Given the description of an element on the screen output the (x, y) to click on. 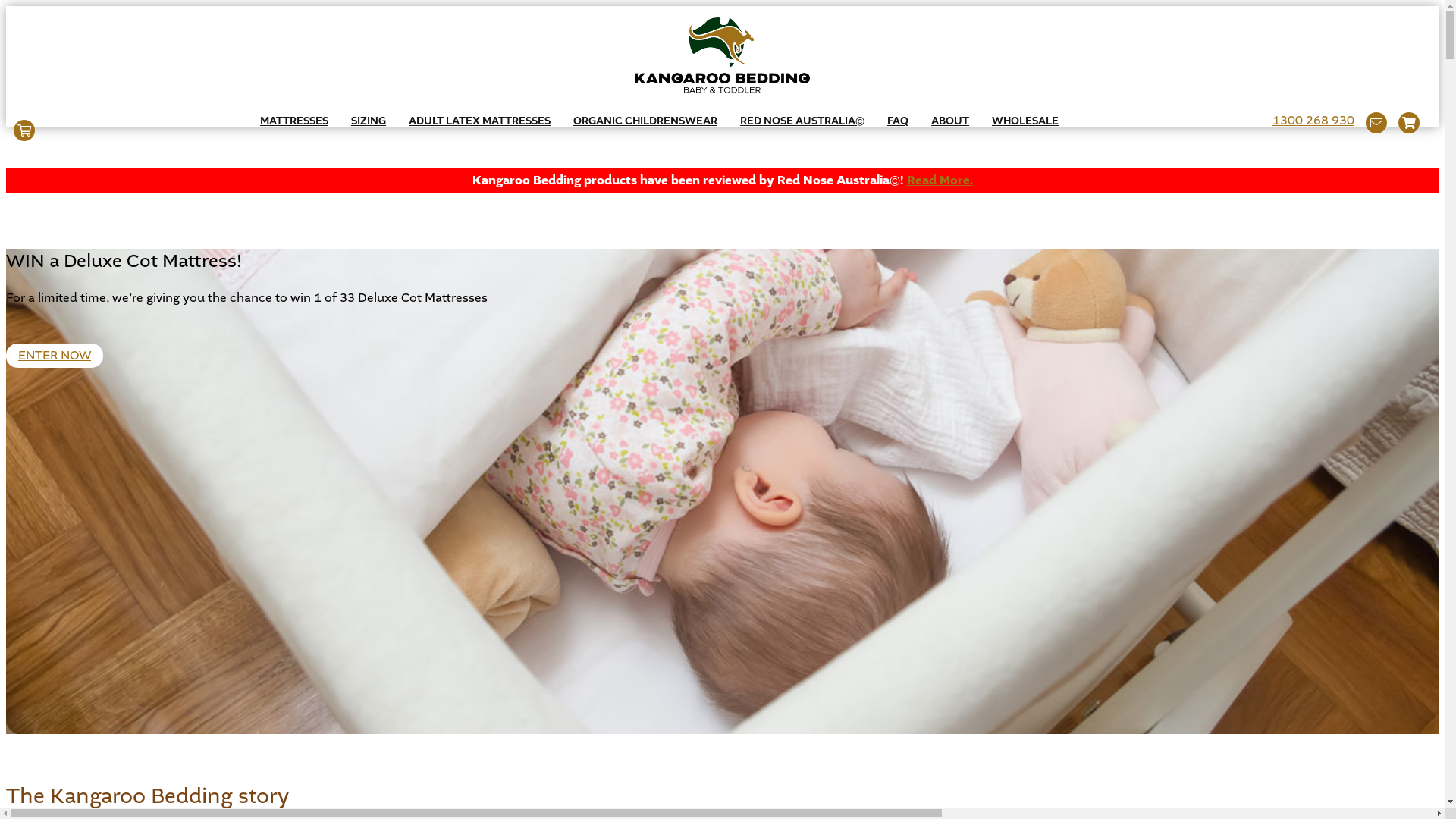
ADULT LATEX MATTRESSES Element type: text (479, 120)
MATTRESSES Element type: text (294, 120)
SIZING Element type: text (368, 120)
ENTER NOW Element type: text (54, 355)
ABOUT Element type: text (950, 120)
Read More. Element type: text (939, 180)
WHOLESALE Element type: text (1024, 120)
1300 268 930 Element type: text (1313, 122)
FAQ Element type: text (897, 120)
ORGANIC CHILDRENSWEAR Element type: text (645, 120)
